Given the description of an element on the screen output the (x, y) to click on. 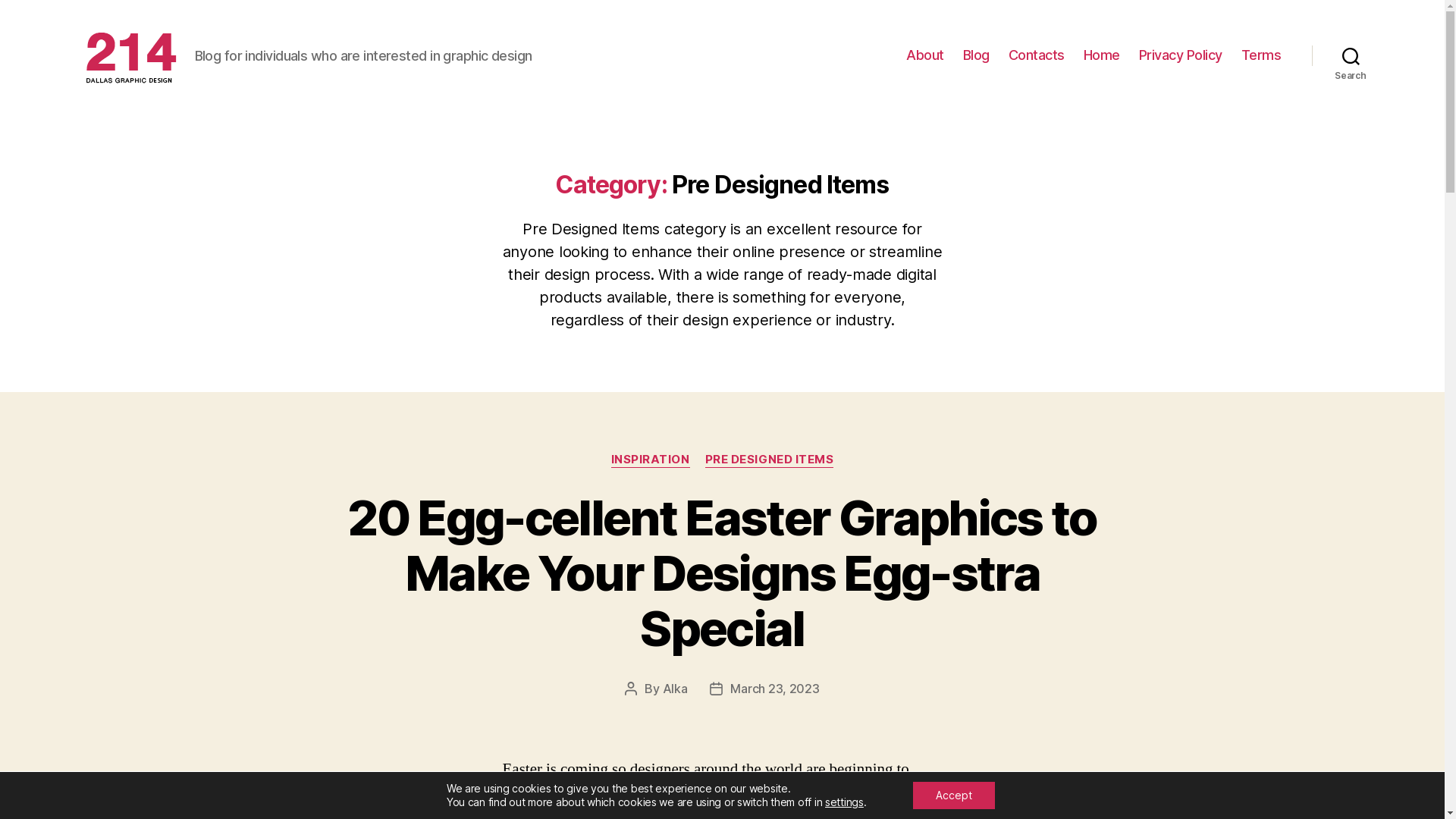
Blog Element type: text (976, 55)
Privacy Policy Element type: text (1180, 55)
Contacts Element type: text (1036, 55)
Alka Element type: text (674, 688)
Terms Element type: text (1261, 55)
Accept Element type: text (953, 795)
About Element type: text (925, 55)
March 23, 2023 Element type: text (774, 688)
PRE DESIGNED ITEMS Element type: text (769, 459)
Home Element type: text (1101, 55)
INSPIRATION Element type: text (650, 459)
Search Element type: text (1350, 55)
